Given the description of an element on the screen output the (x, y) to click on. 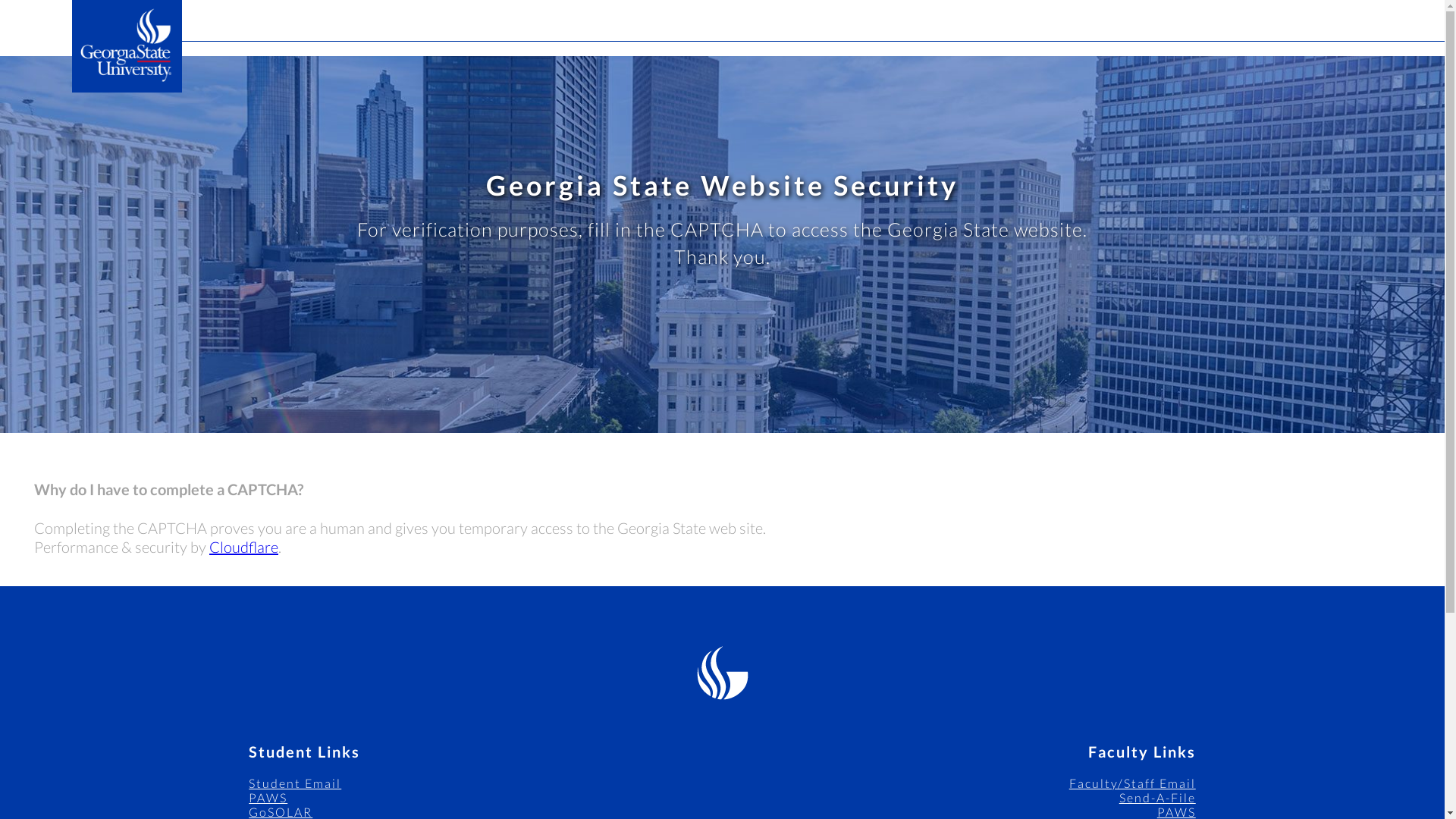
Send-A-File (1157, 797)
PAWS (267, 797)
Student Email (294, 782)
PAWS (1176, 811)
Cloudflare (243, 546)
GoSOLAR (280, 811)
